Given the description of an element on the screen output the (x, y) to click on. 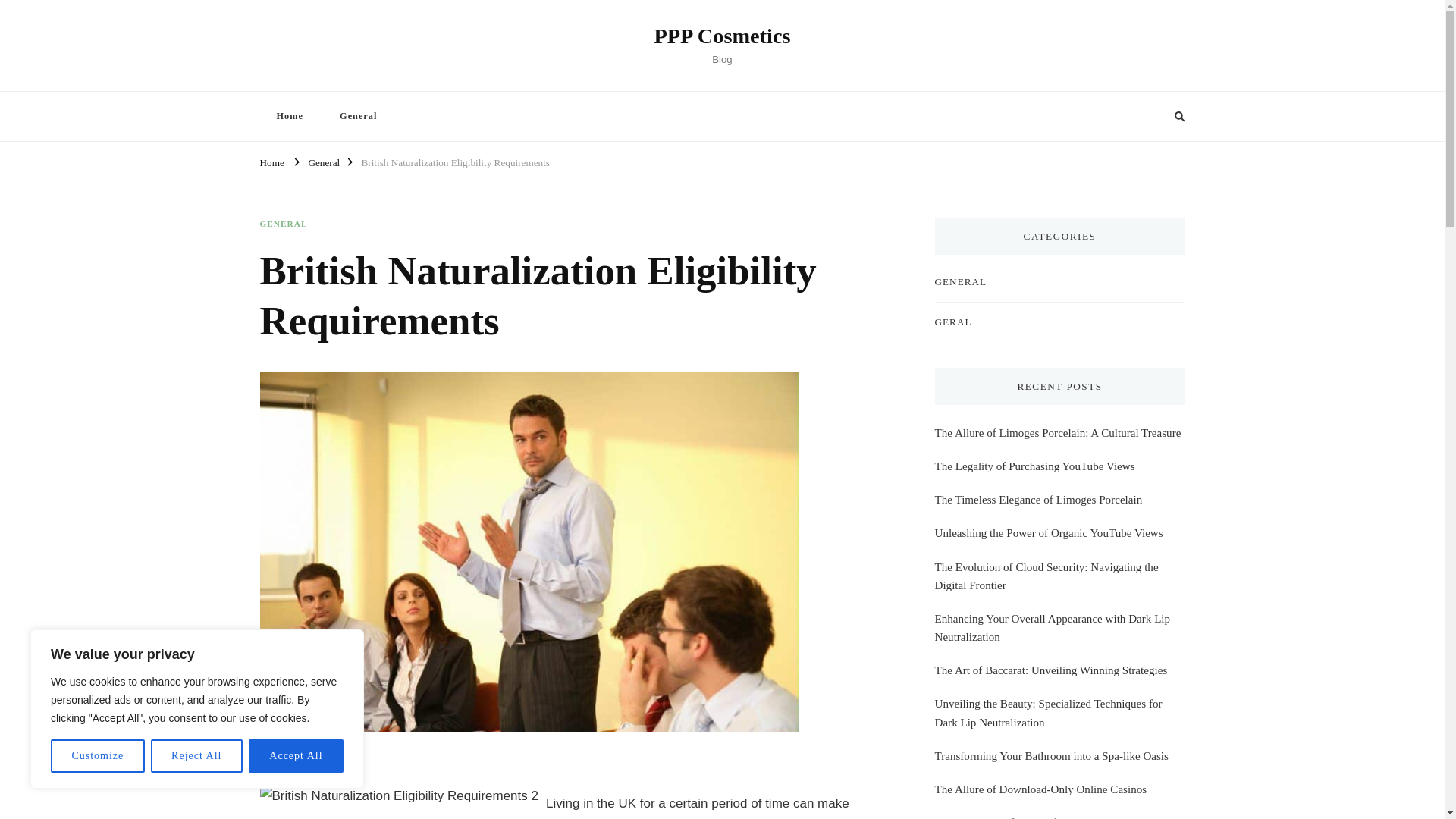
Reject All (197, 756)
Home (288, 115)
PPP Cosmetics (721, 35)
Home (271, 161)
British Naturalization Eligibility Requirements (455, 161)
Accept All (295, 756)
GENERAL (283, 223)
Customize (97, 756)
General (358, 115)
General (323, 161)
